Given the description of an element on the screen output the (x, y) to click on. 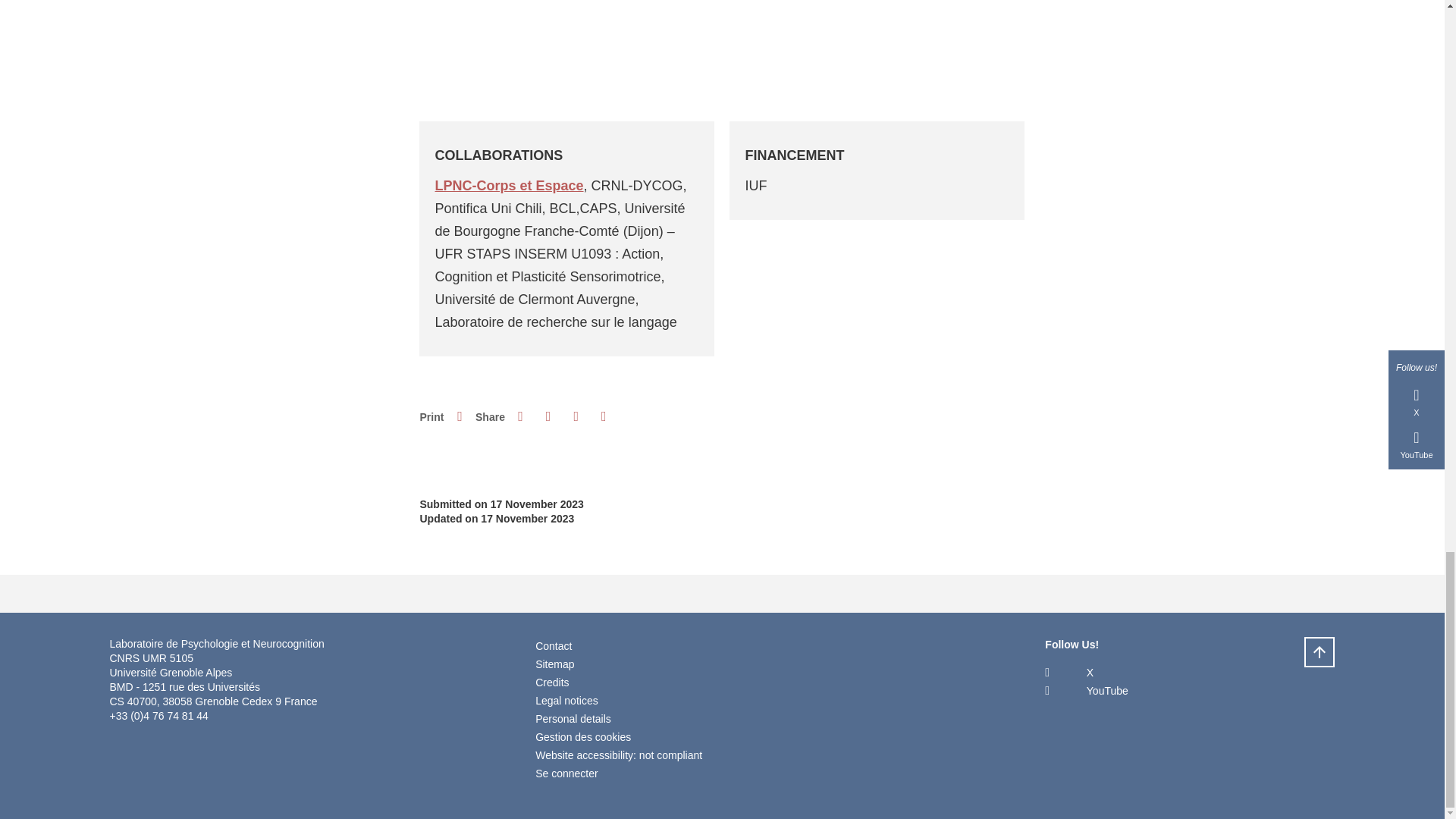
Share url (603, 416)
YouTube (1085, 689)
Share on X (547, 416)
Share on LinkedIn (576, 416)
X (1069, 671)
Print (458, 416)
Share on Facebook (520, 416)
Back to top (1319, 652)
